Given the description of an element on the screen output the (x, y) to click on. 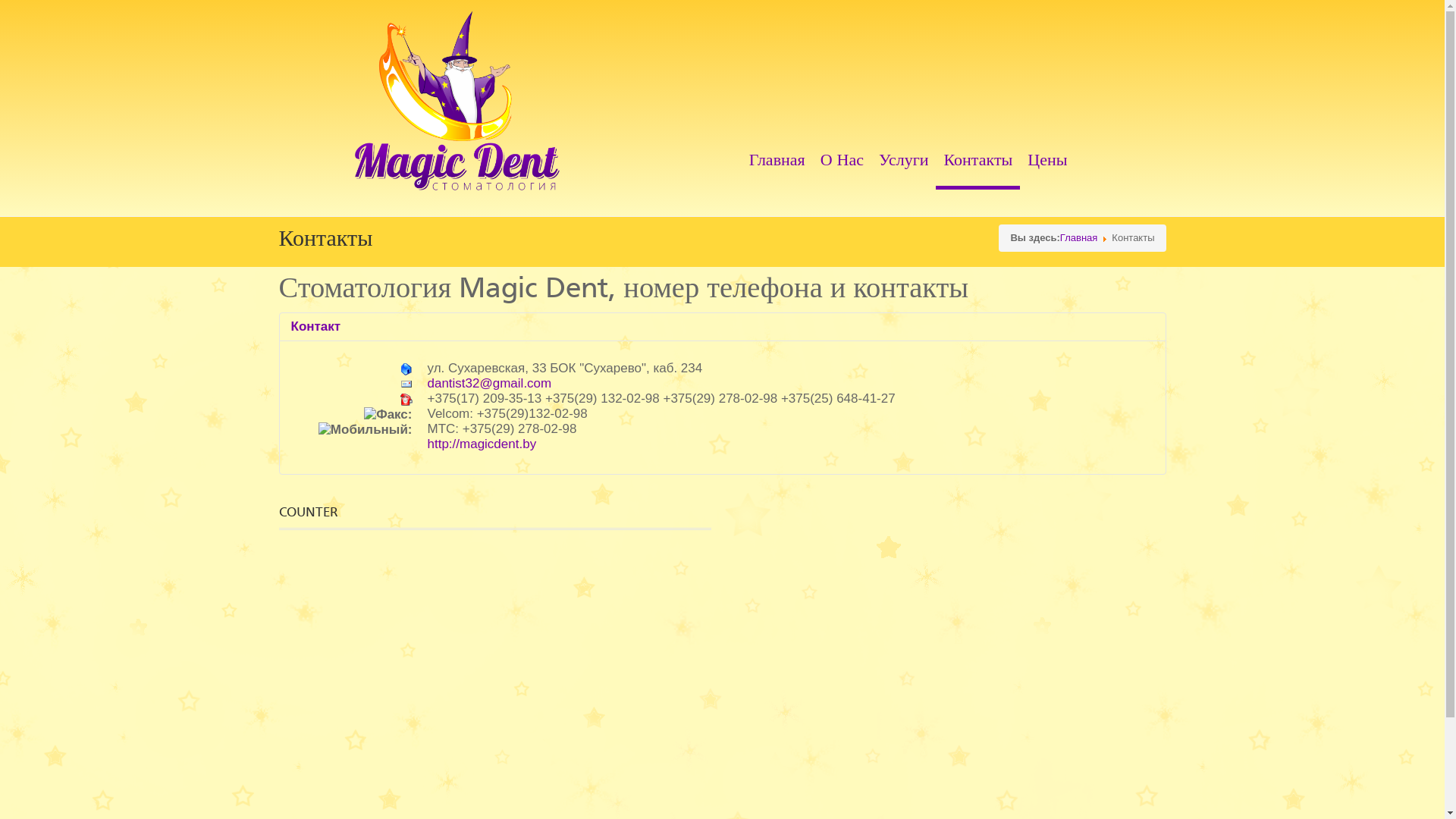
dantist32@gmail.com Element type: text (489, 383)
http://magicdent.by Element type: text (481, 443)
